Given the description of an element on the screen output the (x, y) to click on. 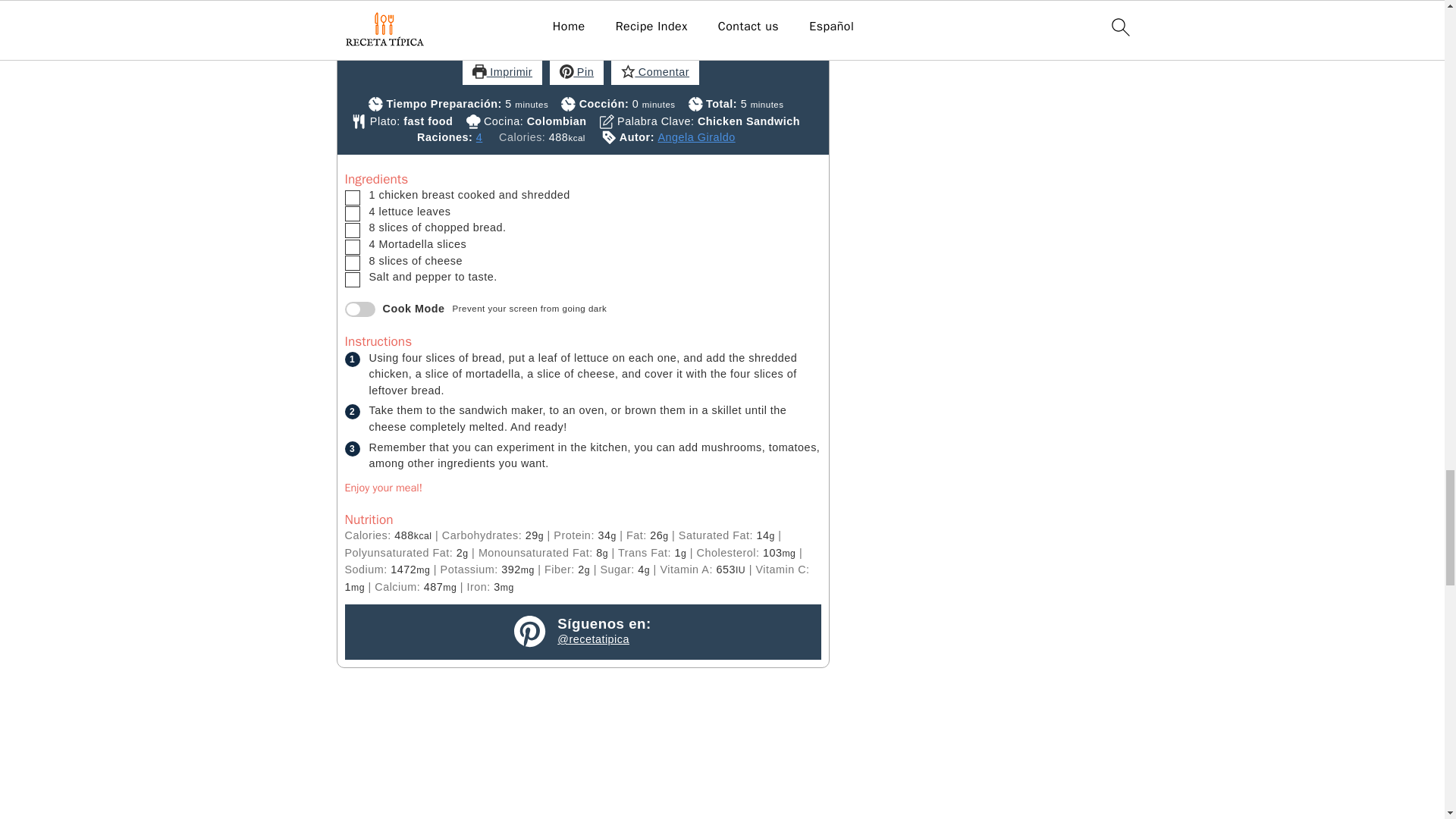
Comentar (654, 72)
Pin (577, 72)
Angela Giraldo (696, 137)
Imprimir (502, 72)
